Given the description of an element on the screen output the (x, y) to click on. 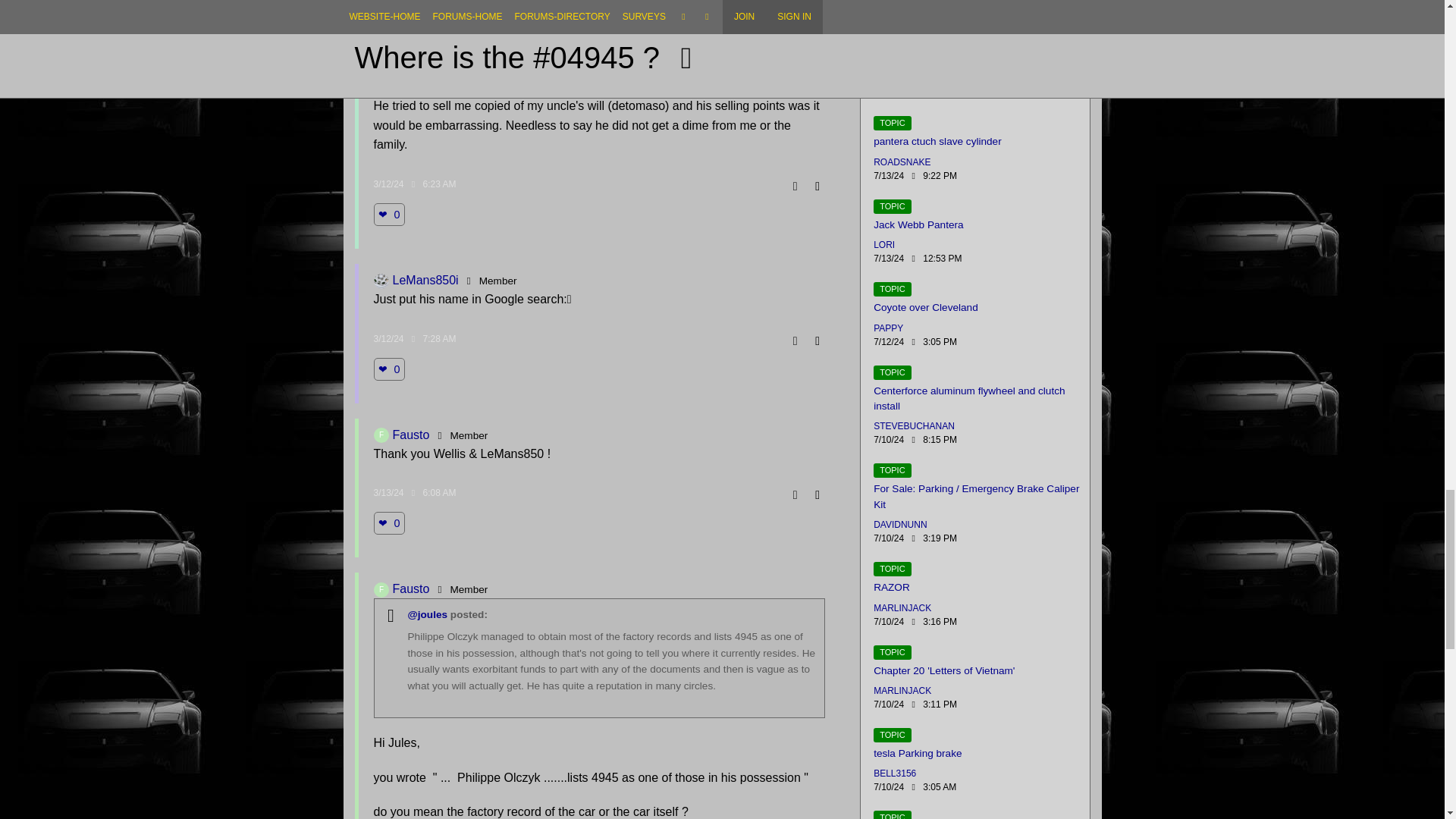
F (380, 589)
F (380, 435)
